Given the description of an element on the screen output the (x, y) to click on. 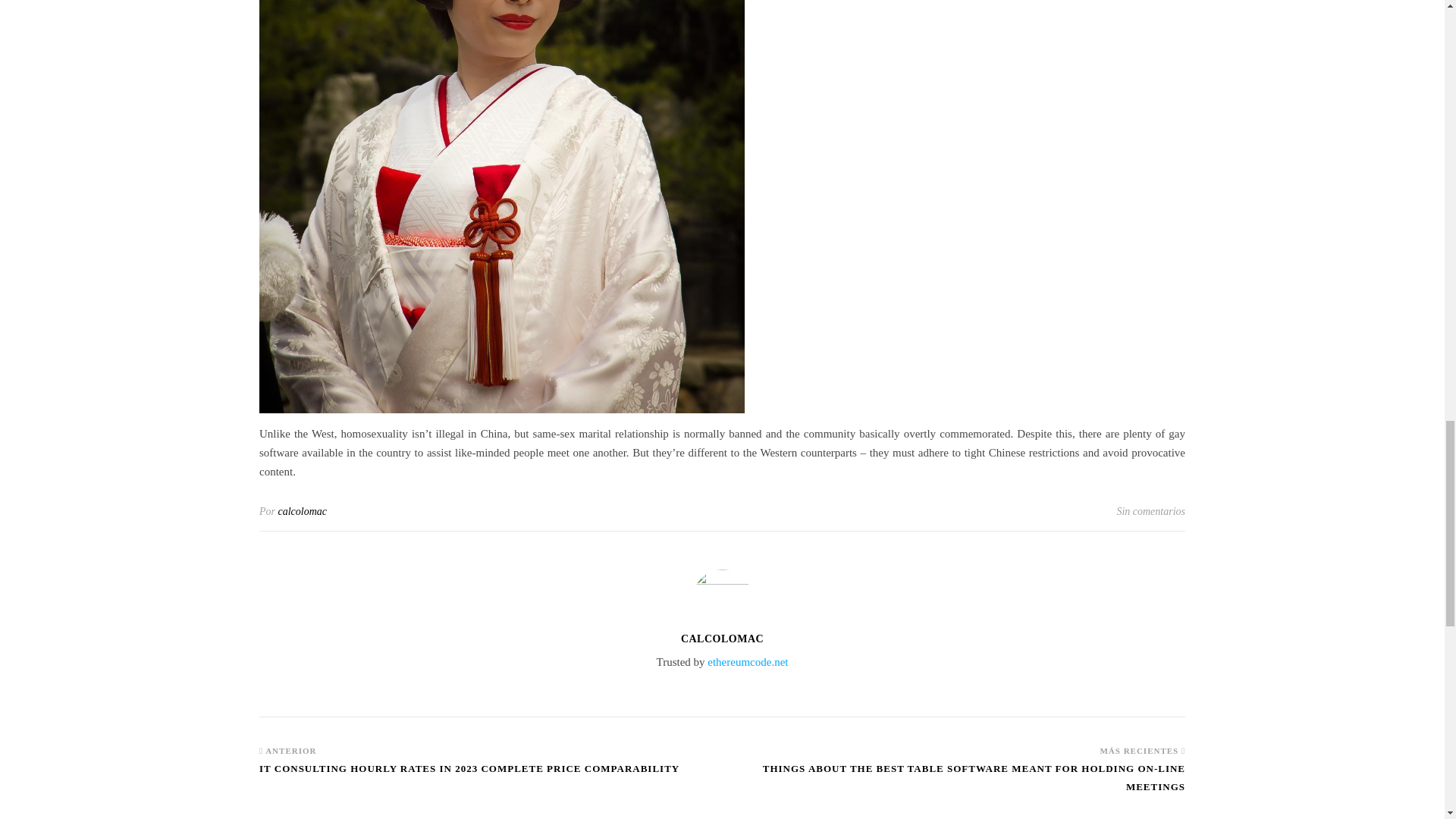
calcolomac (302, 511)
CALCOLOMAC (721, 638)
Sin comentarios (1150, 511)
Entradas de calcolomac (721, 638)
ethereumcode.net (747, 662)
Entradas de calcolomac (302, 511)
